Given the description of an element on the screen output the (x, y) to click on. 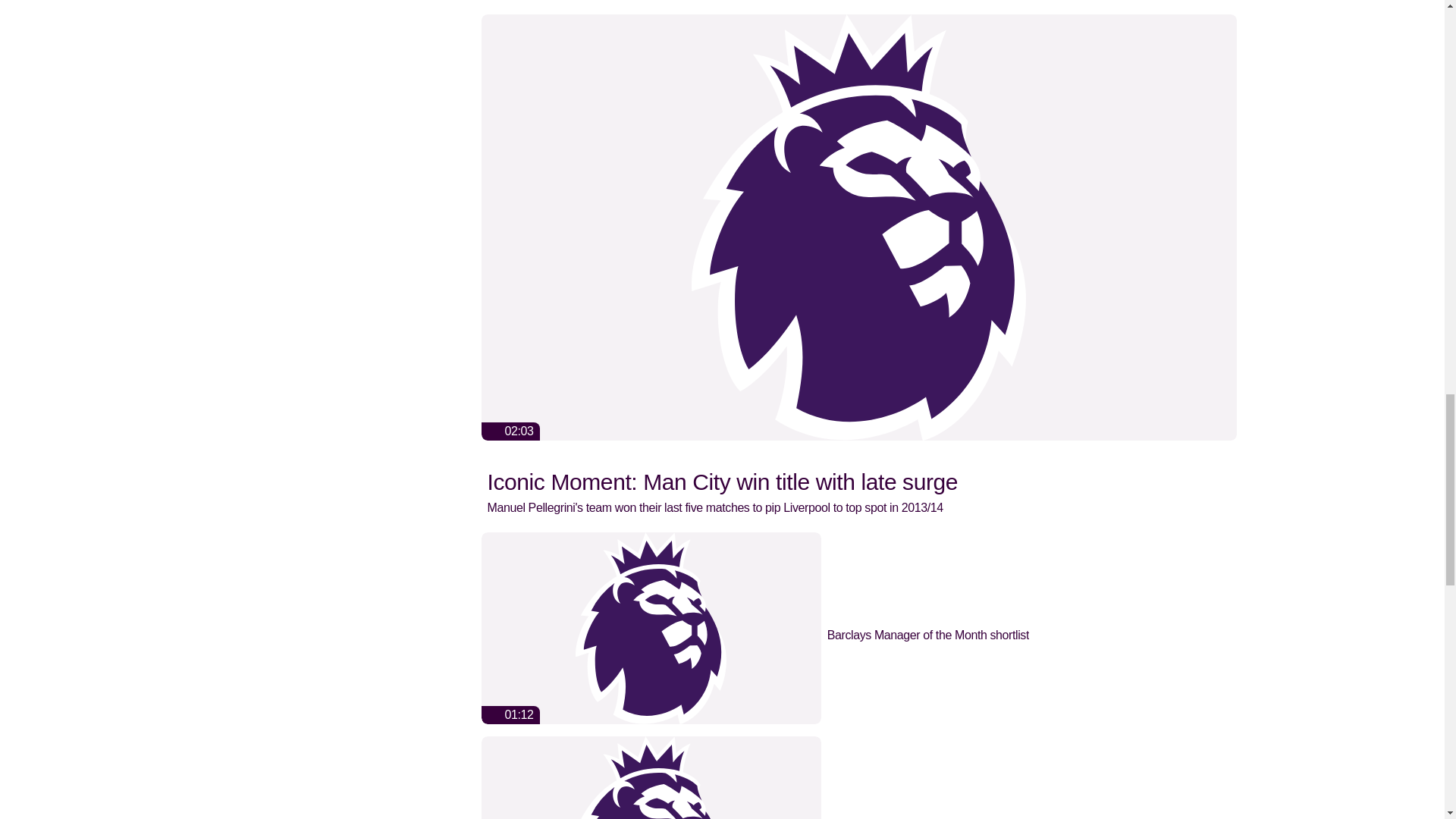
Pellegrini: I'm excited about my team (858, 777)
